Given the description of an element on the screen output the (x, y) to click on. 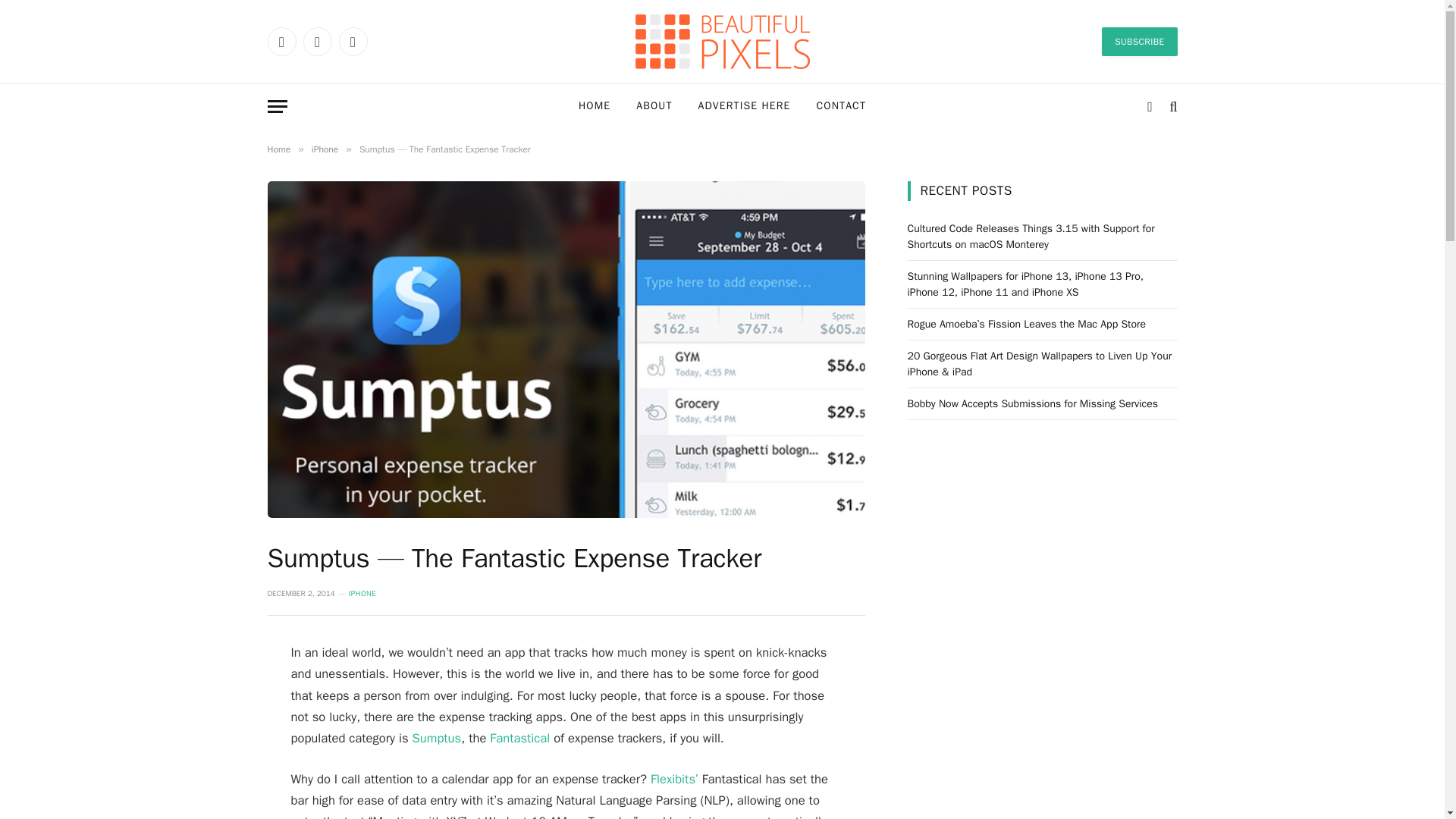
IPHONE (363, 593)
Instagram (351, 41)
CONTACT (841, 106)
ABOUT (653, 106)
Fantastical (519, 738)
ADVERTISE HERE (744, 106)
Home (277, 149)
iPhone (324, 149)
Facebook (280, 41)
HOME (594, 106)
Switch to Dark Design - easier on eyes. (1149, 106)
Sumptus (436, 738)
SUBSCRIBE (1139, 41)
Fantastical 2.2 for iOS 8 (519, 738)
Beautiful Pixels (721, 41)
